Given the description of an element on the screen output the (x, y) to click on. 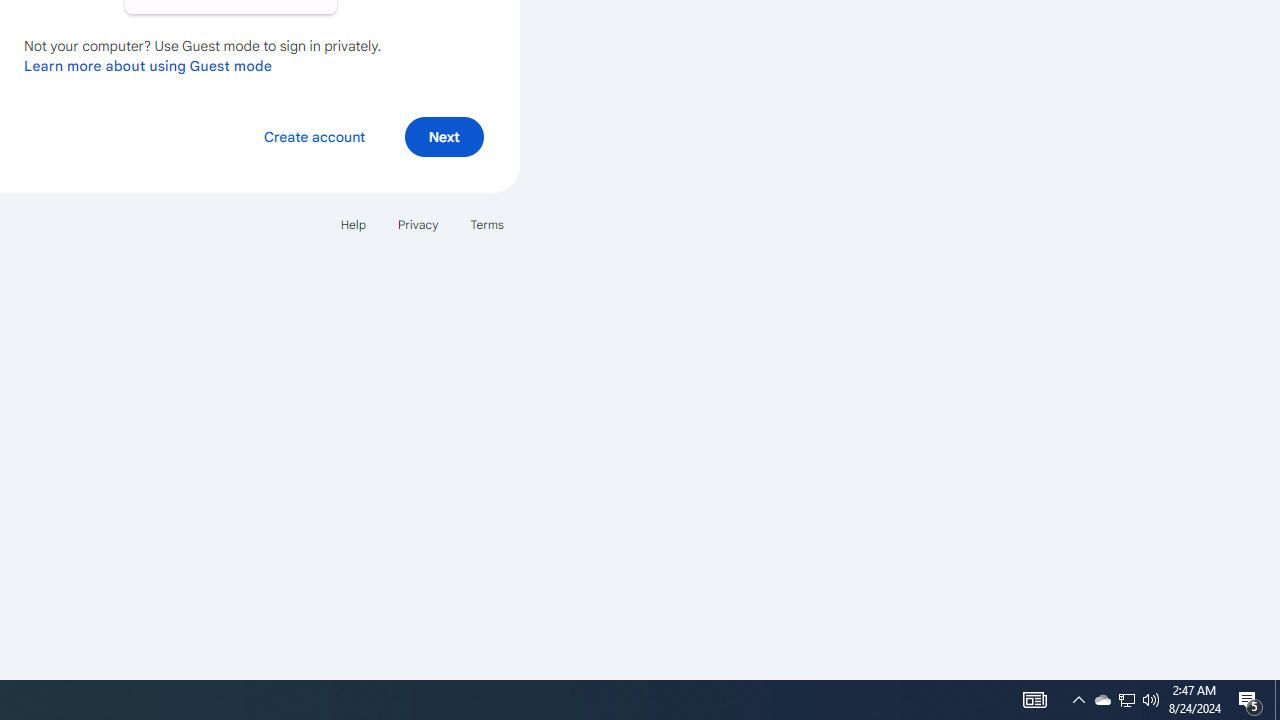
Create account (314, 135)
Next (443, 135)
Learn more about using Guest mode (148, 65)
Privacy (417, 224)
Help (352, 224)
Terms (486, 224)
